Given the description of an element on the screen output the (x, y) to click on. 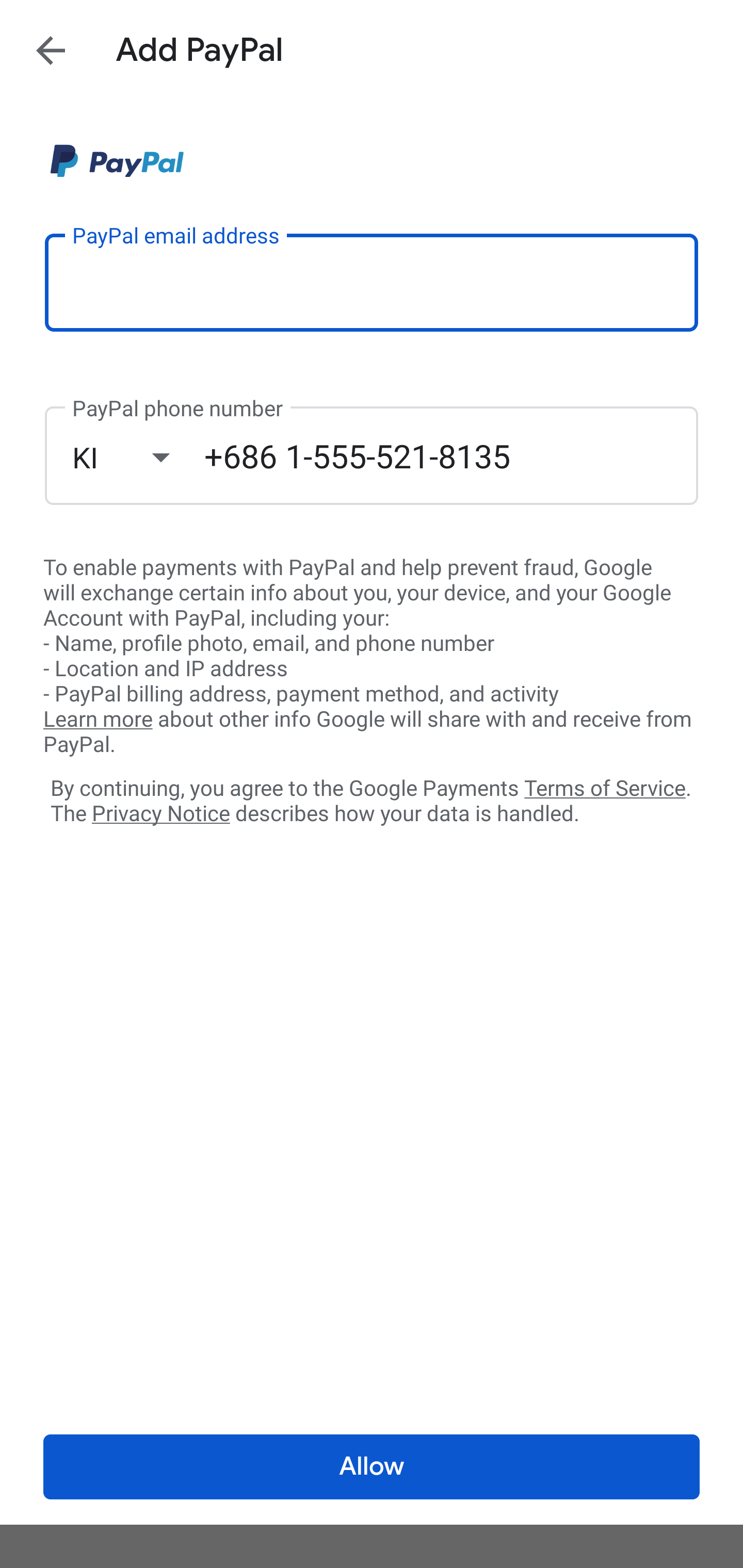
Navigate up (50, 50)
PayPal email address (371, 282)
KI (138, 456)
Learn more (97, 719)
Terms of Service (604, 787)
Privacy Notice (160, 814)
Allow (371, 1466)
